Given the description of an element on the screen output the (x, y) to click on. 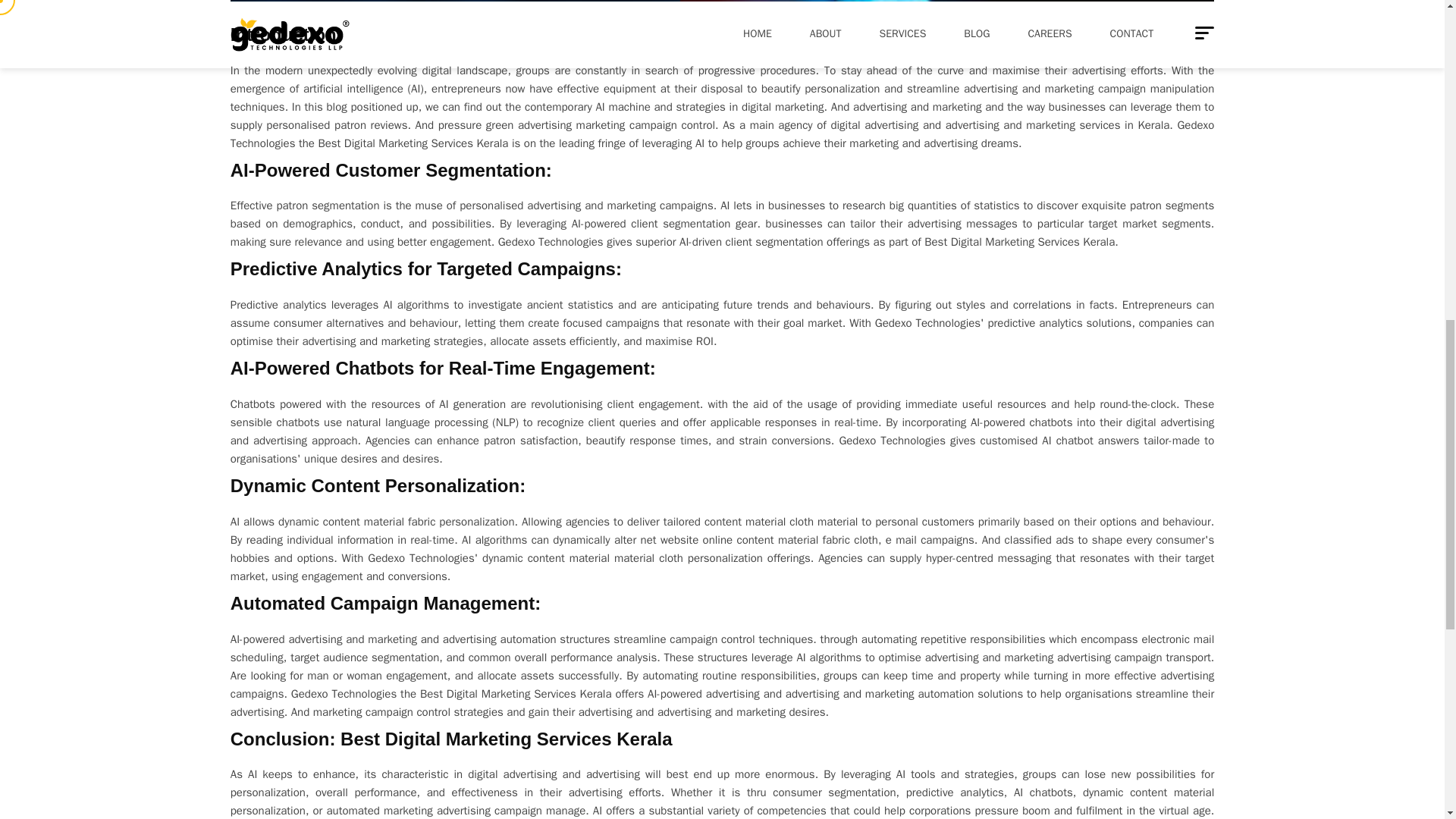
Best Digital Marketing Services Kerala (412, 142)
Best Digital Marketing Services Kerala (506, 738)
Best Digital Marketing Services Kerala (1019, 241)
Best Digital Marketing Services Kerala (513, 694)
